Given the description of an element on the screen output the (x, y) to click on. 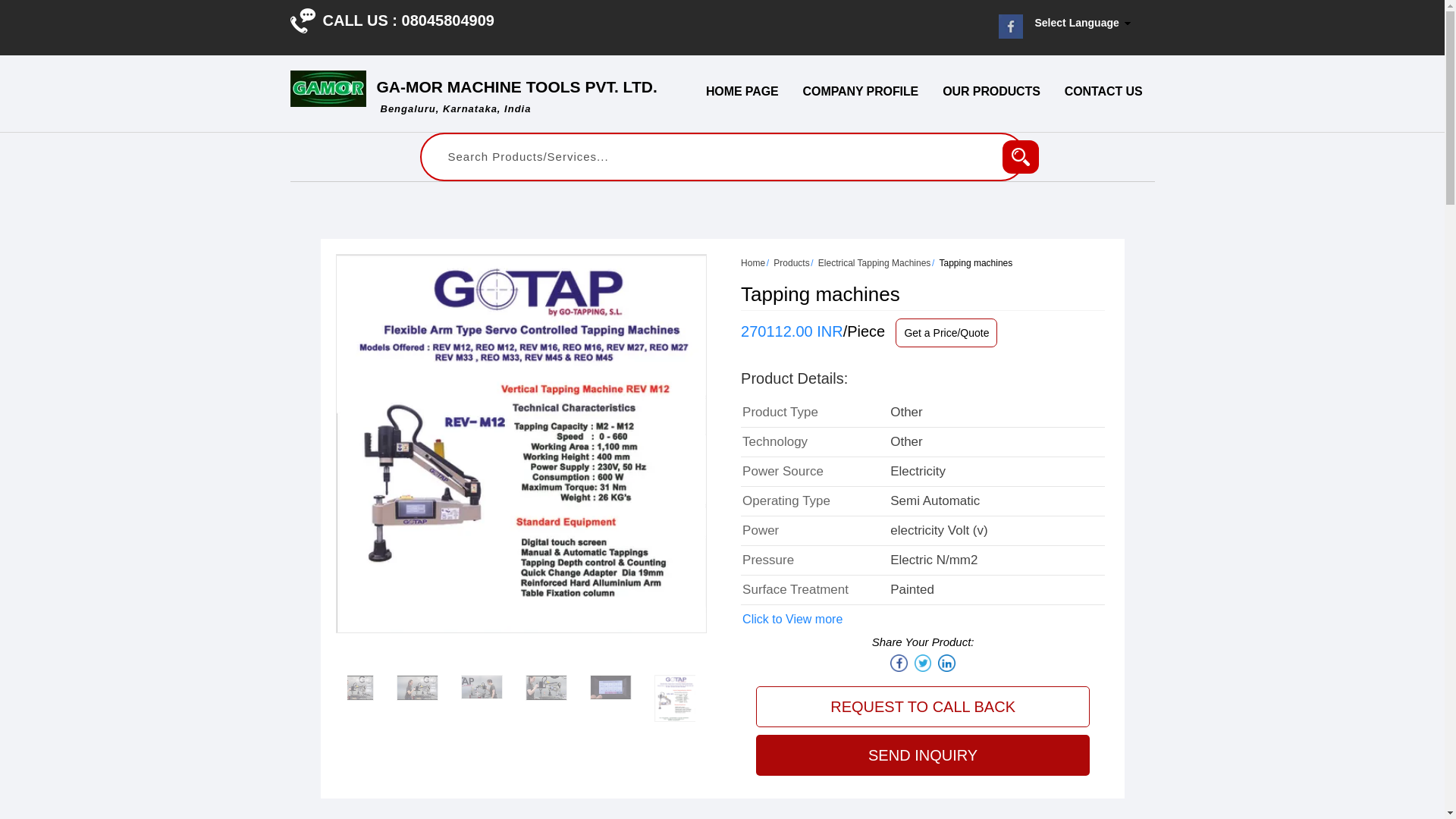
CONTACT US (1103, 91)
Search (1021, 156)
Click to View more (792, 619)
HOME PAGE (742, 91)
Select Language (1086, 22)
COMPANY PROFILE (860, 91)
Electrical Tapping Machines (874, 262)
submit (515, 96)
Facebook (1021, 156)
